Given the description of an element on the screen output the (x, y) to click on. 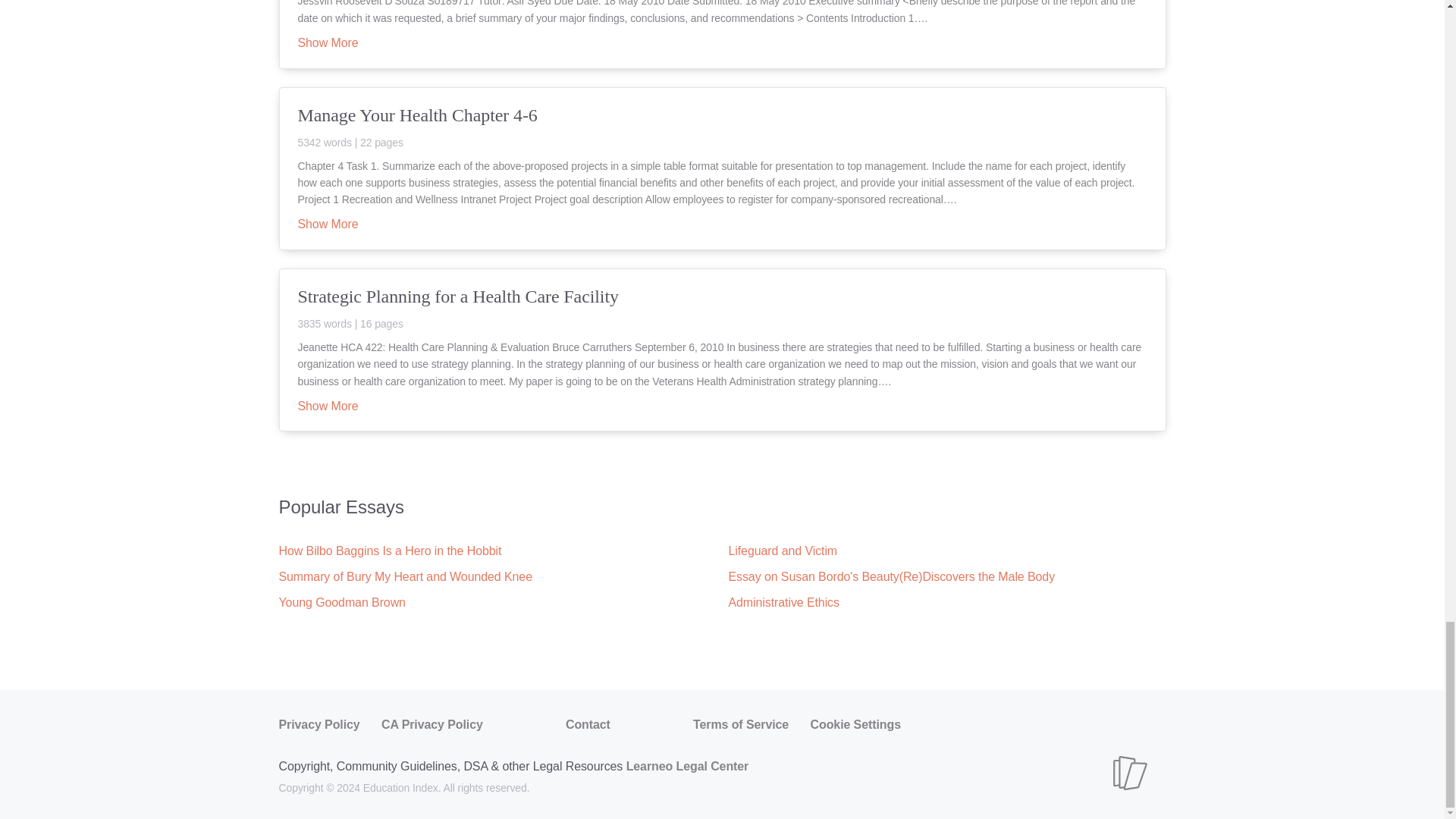
Summary of Bury My Heart and Wounded Knee (405, 576)
Summary of Bury My Heart and Wounded Knee (405, 576)
Administrative Ethics (783, 602)
Show More (327, 43)
Lifeguard and Victim (782, 550)
Privacy Policy (319, 724)
Show More (327, 407)
Young Goodman Brown (342, 602)
How Bilbo Baggins Is a Hero in the Hobbit (390, 550)
Show More (327, 225)
Learneo Legal Center (687, 766)
Strategic Planning for a Health Care Facility (722, 307)
Cookie Settings (855, 724)
Administrative Ethics (783, 602)
Contact (588, 724)
